Given the description of an element on the screen output the (x, y) to click on. 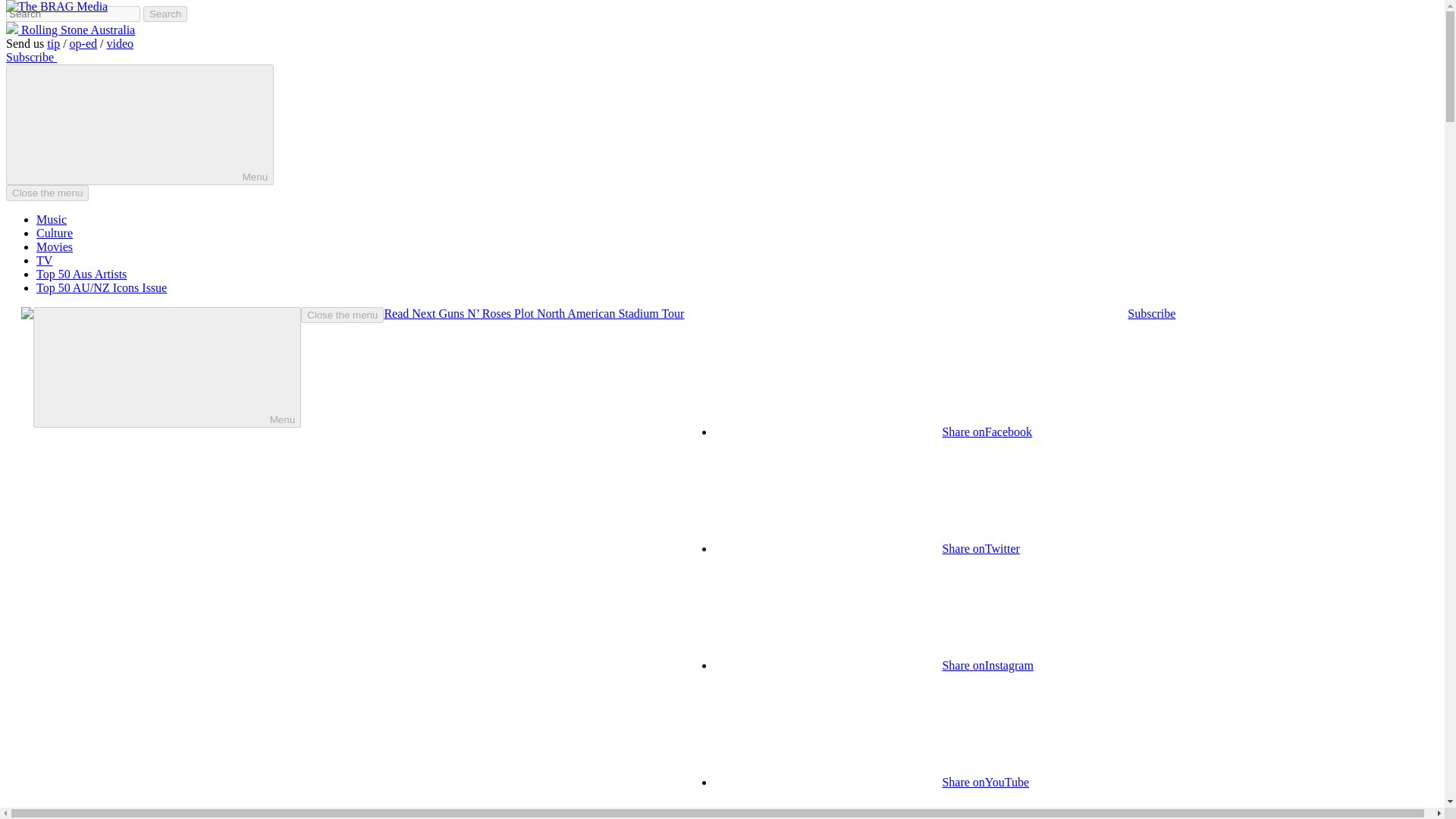
op-ed (83, 42)
video (119, 42)
tip (52, 42)
Close the menu (46, 192)
Search (164, 13)
Search (164, 13)
Menu (139, 124)
Subscribe (30, 56)
Rolling Stone Australia (70, 29)
